Given the description of an element on the screen output the (x, y) to click on. 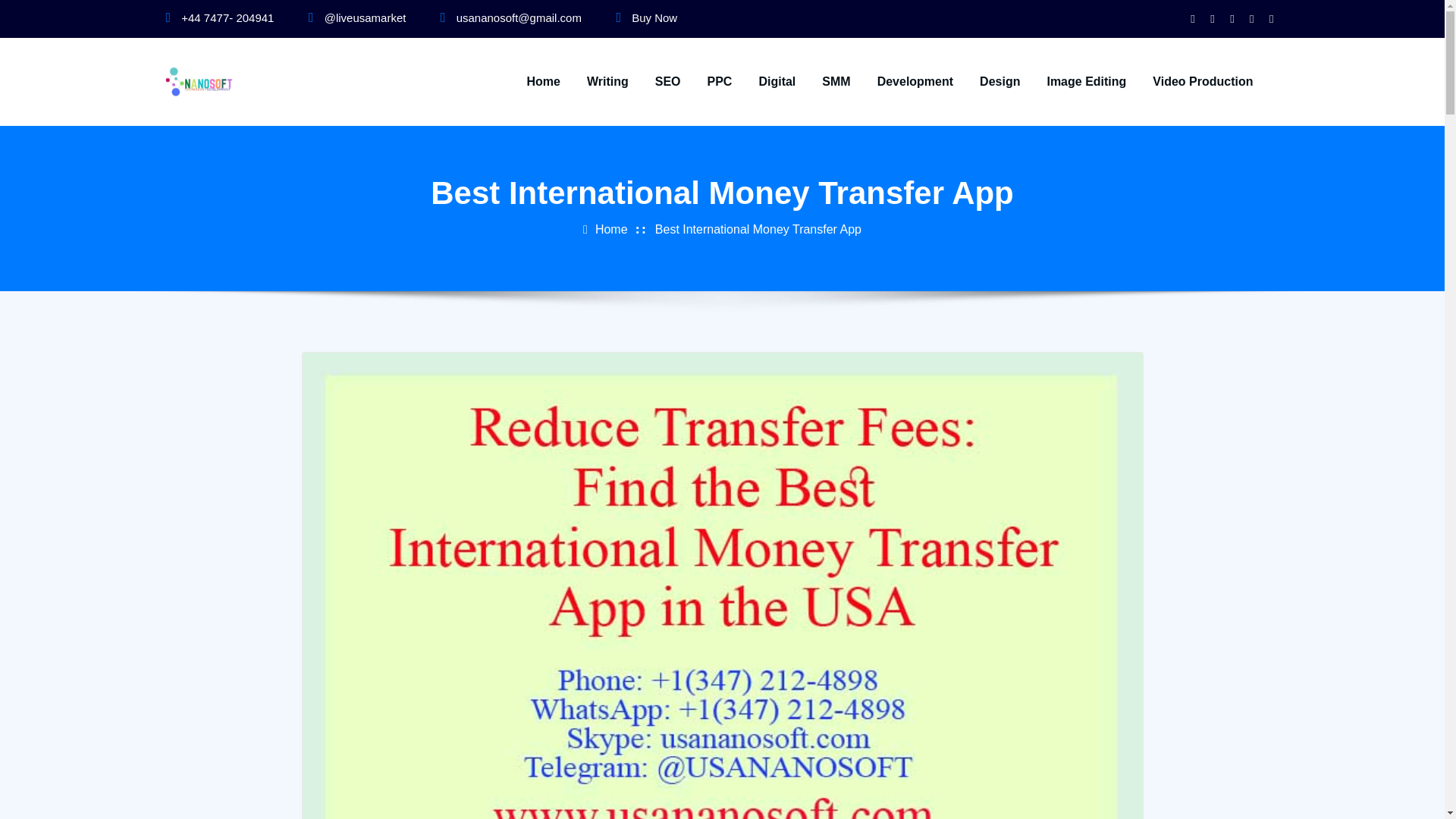
Buy Now (654, 17)
Home (542, 81)
Writing (607, 81)
SEO (668, 81)
